Given the description of an element on the screen output the (x, y) to click on. 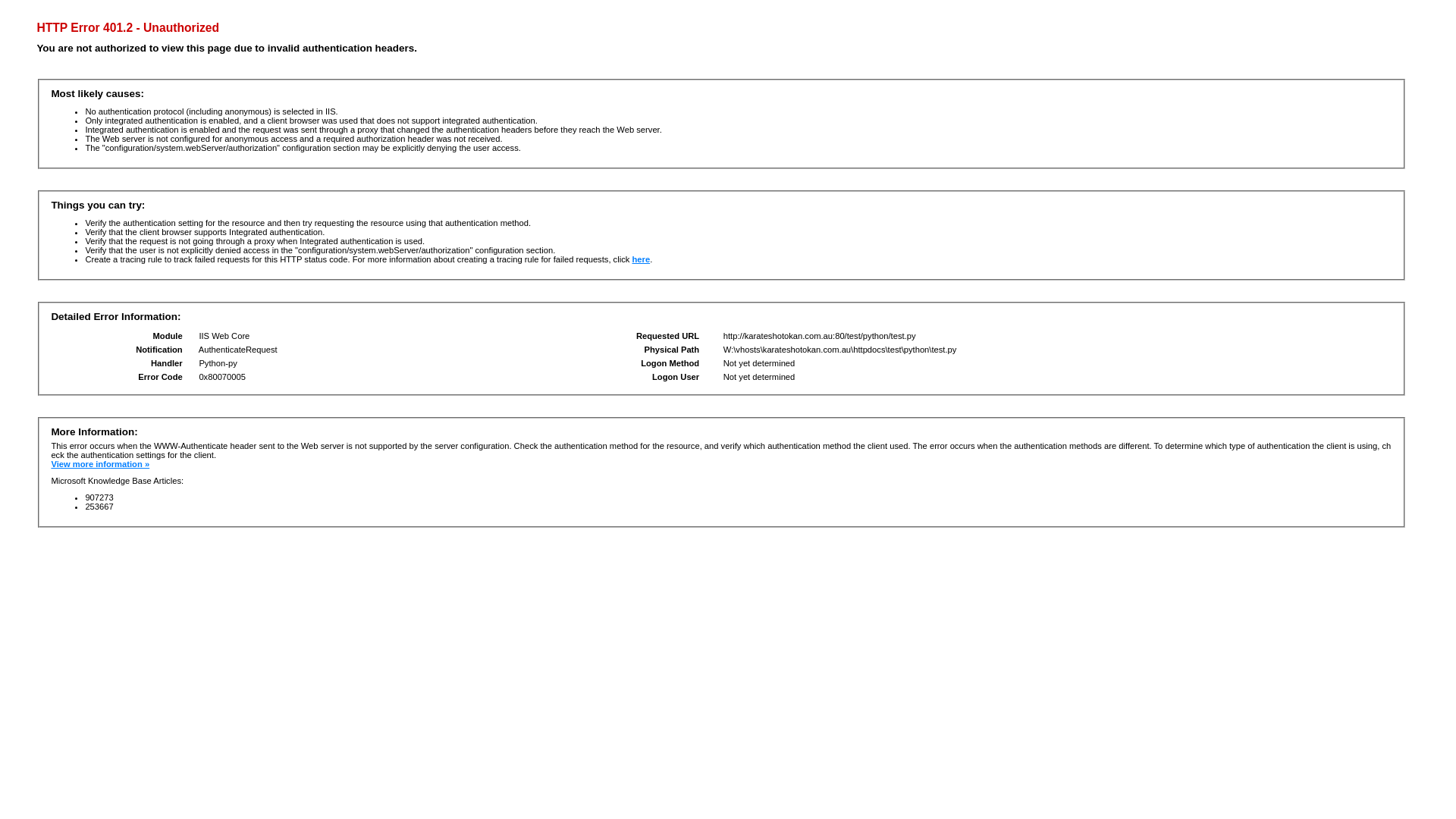
here Element type: text (640, 258)
